Given the description of an element on the screen output the (x, y) to click on. 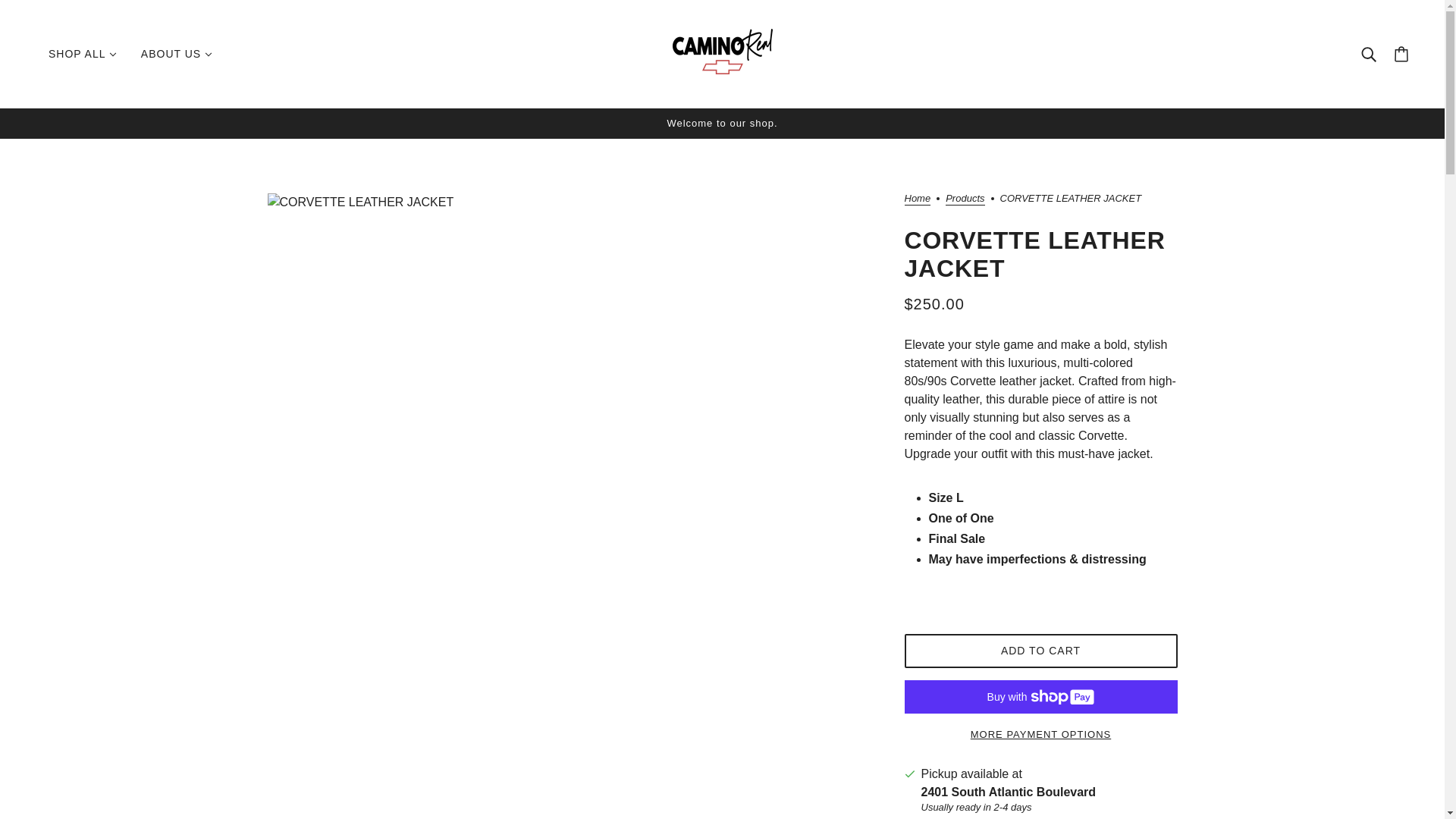
SHOP ALL  (82, 53)
Products (964, 199)
2401 South Atlantic Boulevard (1008, 791)
MORE PAYMENT OPTIONS (1040, 728)
Camino Real Shop  (721, 69)
ABOUT US  (176, 53)
Home (917, 199)
ADD TO CART (1040, 650)
